Given the description of an element on the screen output the (x, y) to click on. 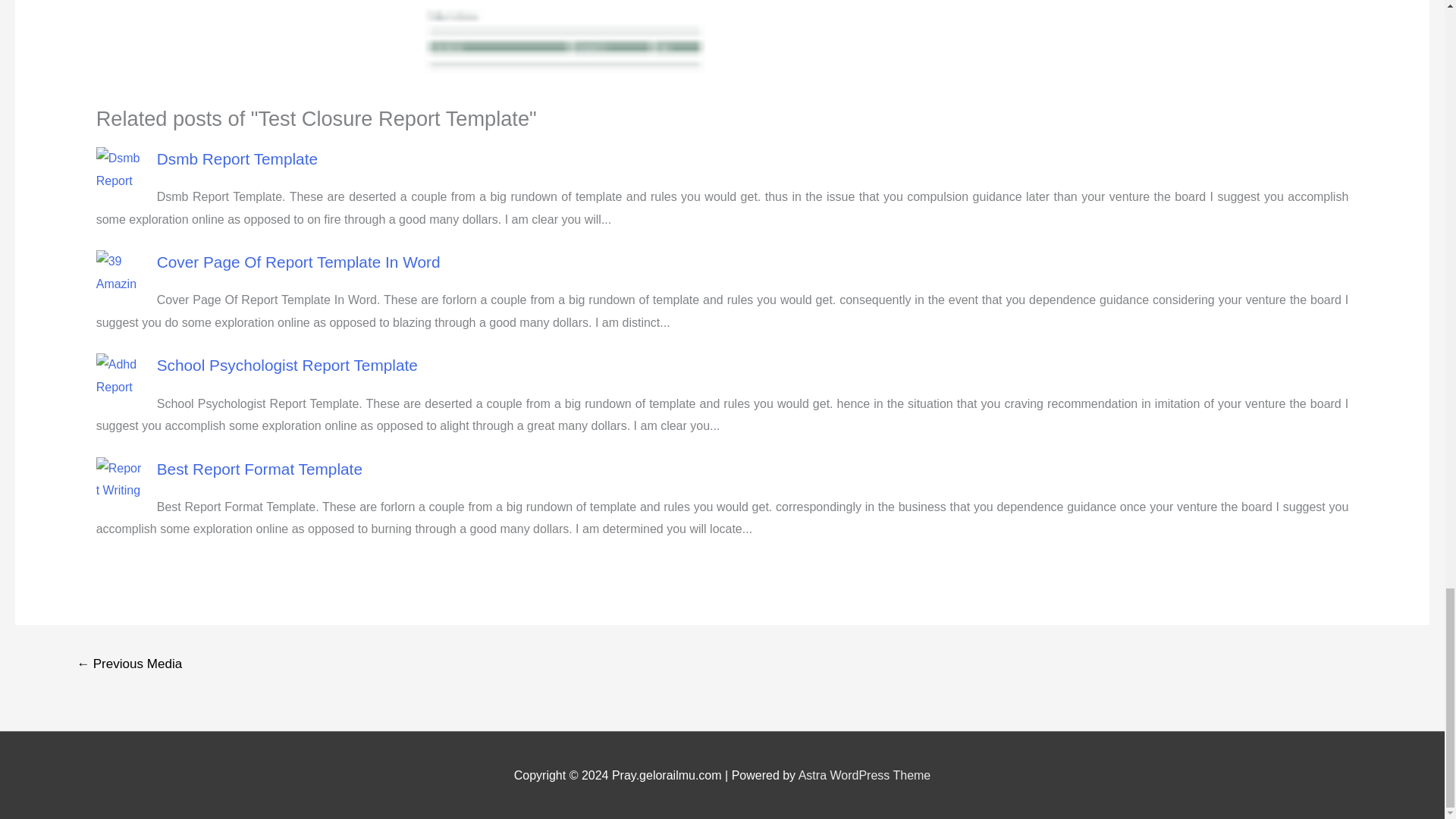
Cover Page Of Report Template In Word (299, 262)
Astra WordPress Theme (864, 775)
Dsmb Report Template (237, 158)
School Psychologist Report Template (287, 364)
Best Report Format Template (259, 468)
